Given the description of an element on the screen output the (x, y) to click on. 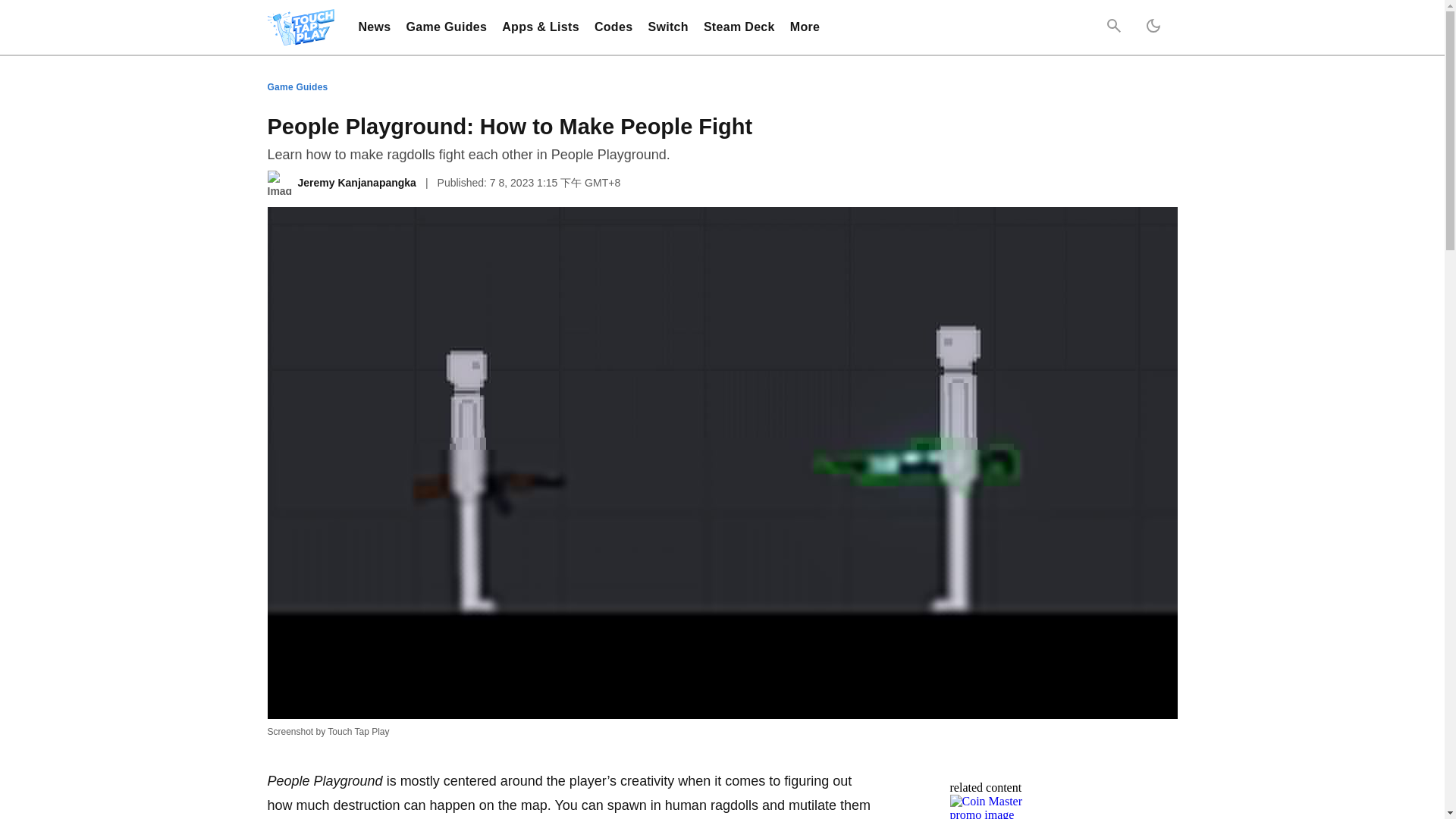
Codes (613, 26)
Search (1112, 27)
Game Guides (446, 26)
Switch (667, 26)
Steam Deck (738, 26)
Dark Mode (1152, 27)
News (374, 26)
